Given the description of an element on the screen output the (x, y) to click on. 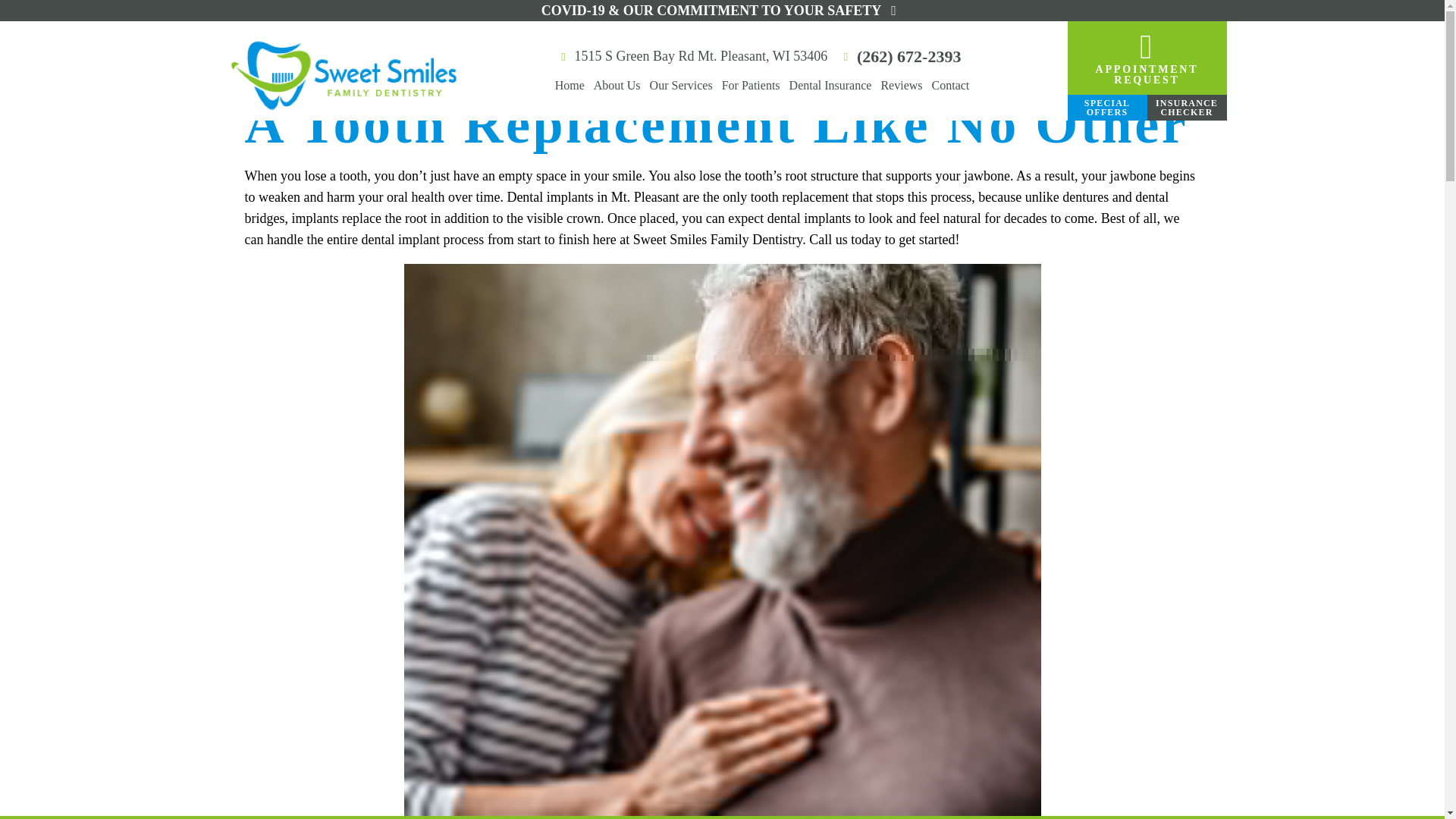
For Patients (750, 85)
Dental Insurance (692, 56)
About Us (830, 85)
Reviews (617, 85)
Contact (901, 85)
Home (950, 85)
Our Services (569, 85)
